Given the description of an element on the screen output the (x, y) to click on. 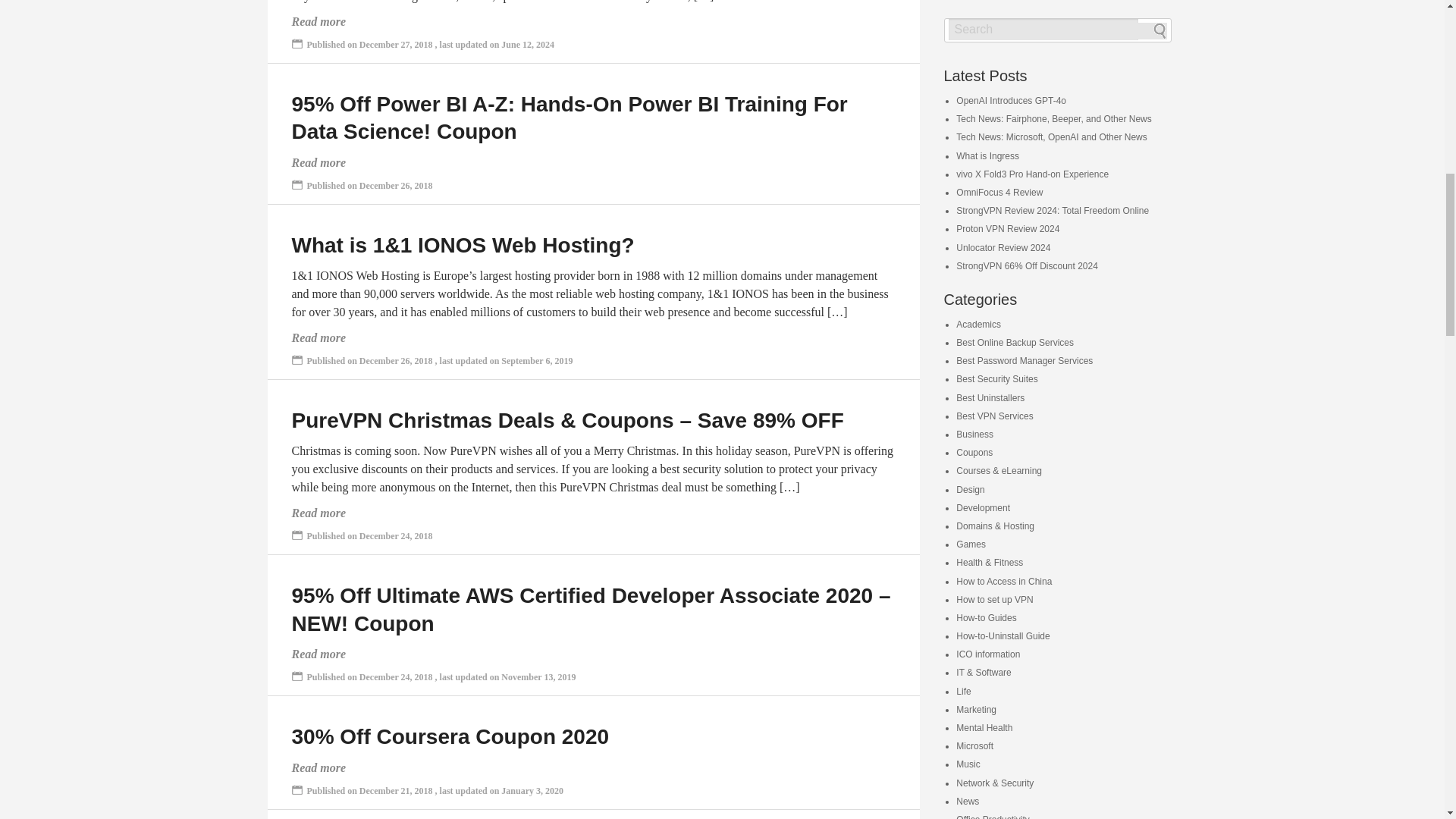
Read more (318, 337)
Tech News: Microsoft, OpenAI and Other News (1051, 136)
Unlocator Review 2024 (1002, 247)
Read more (318, 512)
StrongVPN Review 2024: Total Freedom Online (1052, 210)
Tech News: Fairphone, Beeper, and Other News (1053, 118)
OmniFocus 4 Review (999, 192)
OpenAI Introduces GPT-4o (1010, 100)
Proton VPN Review 2024 (1007, 228)
Read more (318, 767)
Read more (318, 162)
What is Ingress (987, 155)
vivo X Fold3 Pro Hand-on Experience (1032, 173)
Read more (318, 21)
Read more (318, 653)
